Given the description of an element on the screen output the (x, y) to click on. 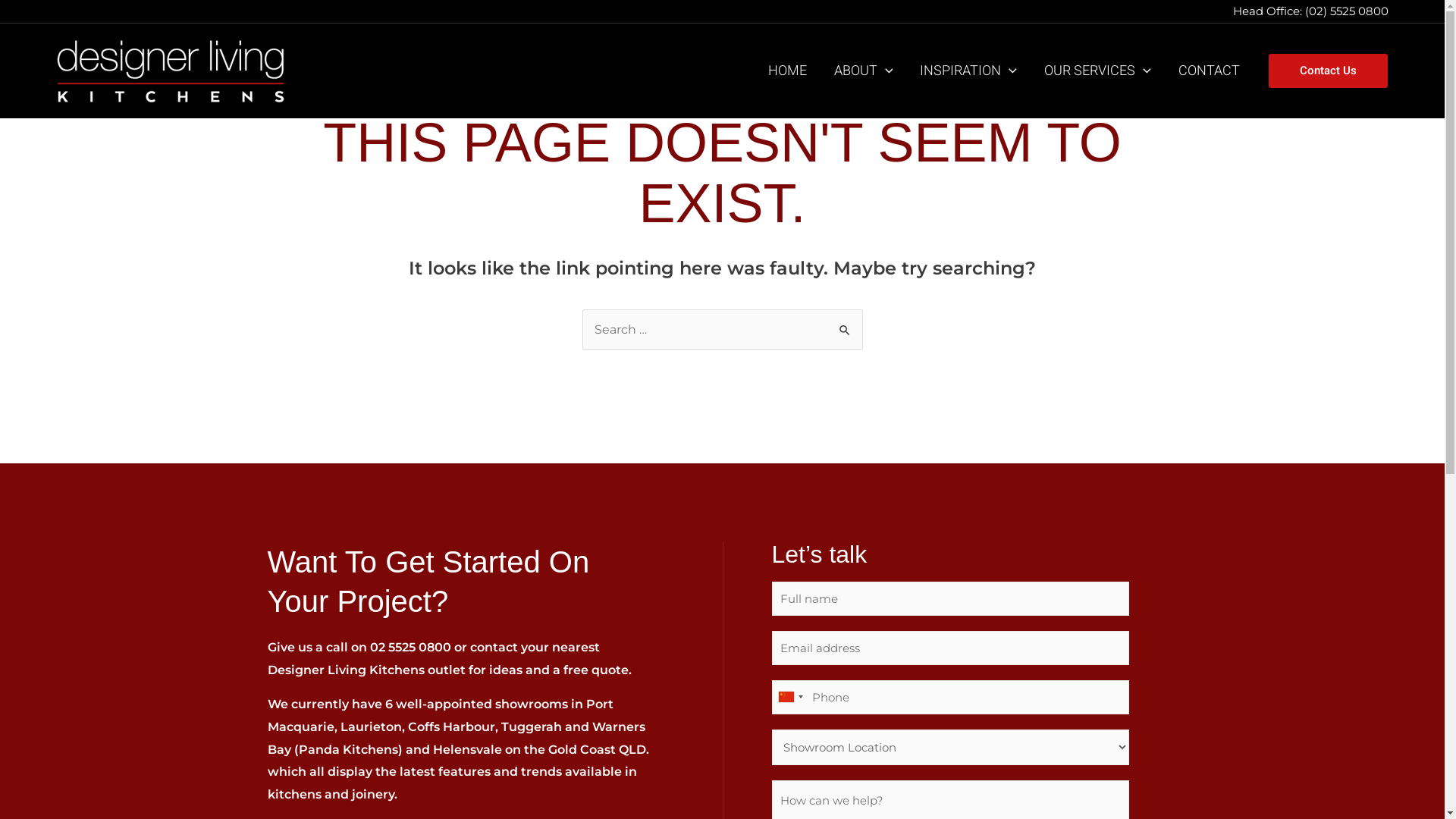
(02) 5525 0800  Element type: text (1348, 10)
INSPIRATION Element type: text (968, 70)
HOME Element type: text (787, 70)
ABOUT Element type: text (863, 70)
02 5525 0800 Element type: text (410, 647)
Contact Us Element type: text (1327, 70)
CONTACT Element type: text (1208, 70)
Search Element type: text (845, 324)
OUR SERVICES Element type: text (1097, 70)
